Given the description of an element on the screen output the (x, y) to click on. 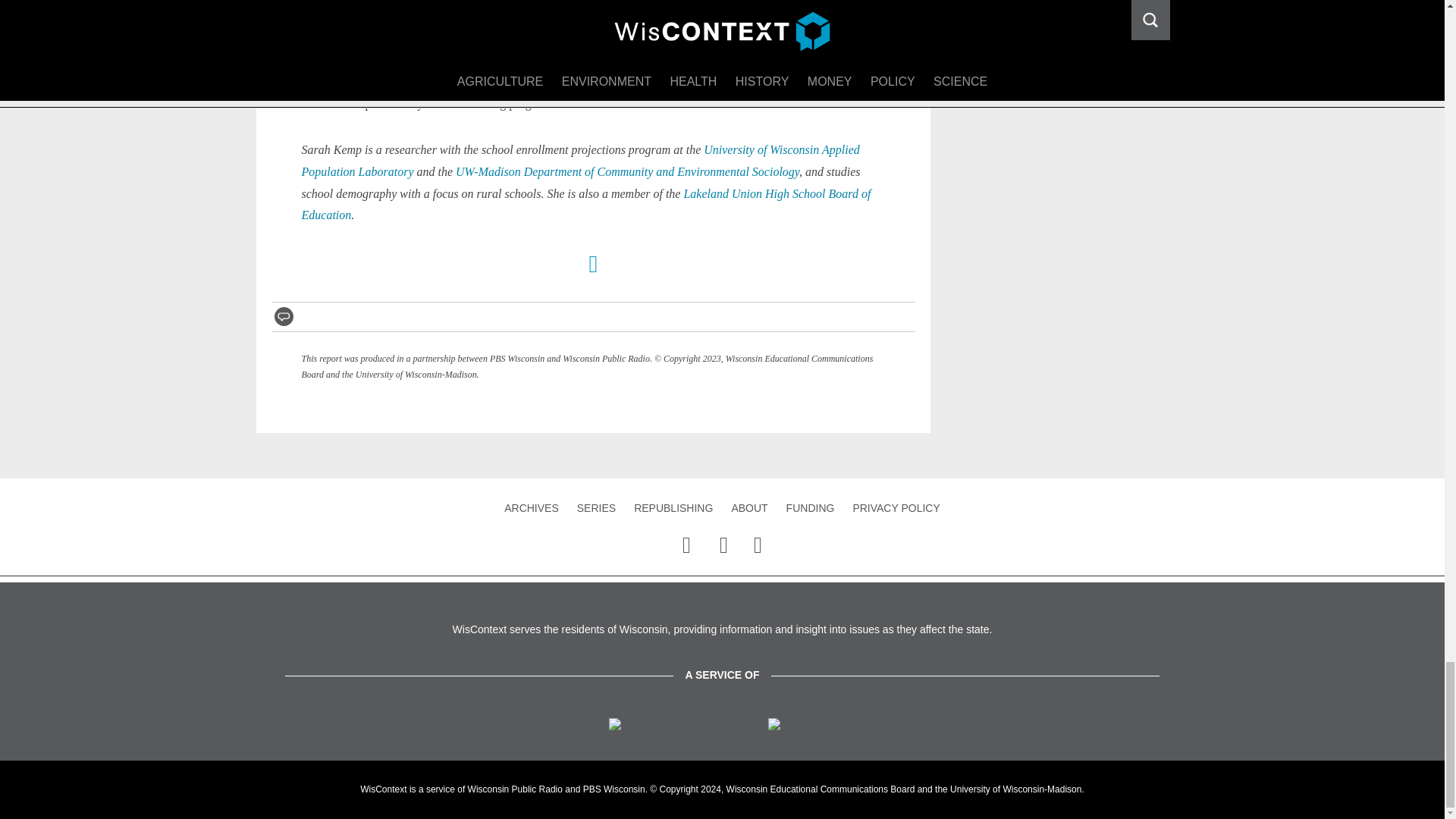
University of Wisconsin Applied Population Laboratory (580, 160)
Lakeland Union High School Board of Education (585, 204)
